Given the description of an element on the screen output the (x, y) to click on. 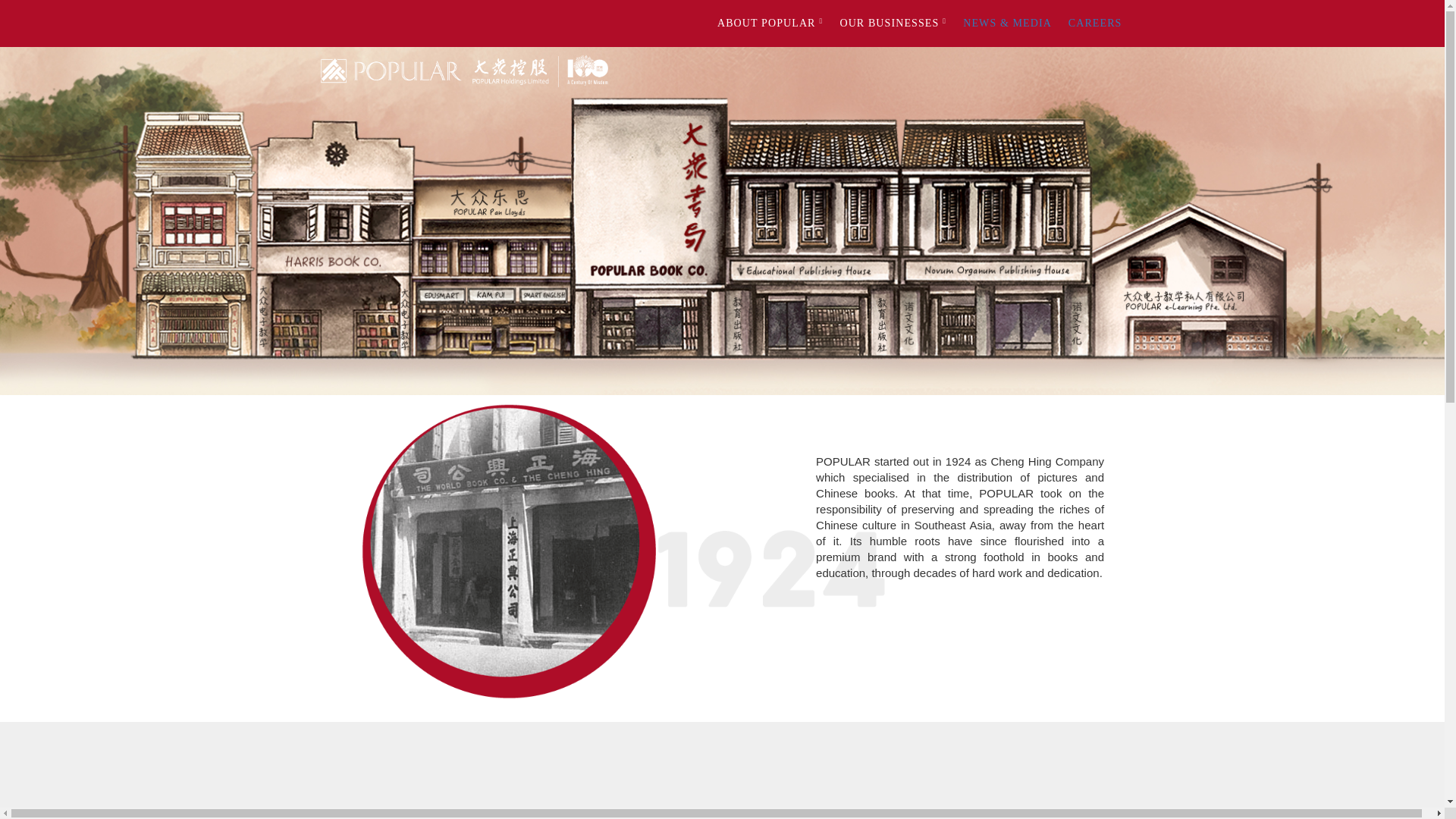
CAREERS (1095, 23)
ABOUT POPULAR (770, 23)
OUR BUSINESSES (893, 23)
